Given the description of an element on the screen output the (x, y) to click on. 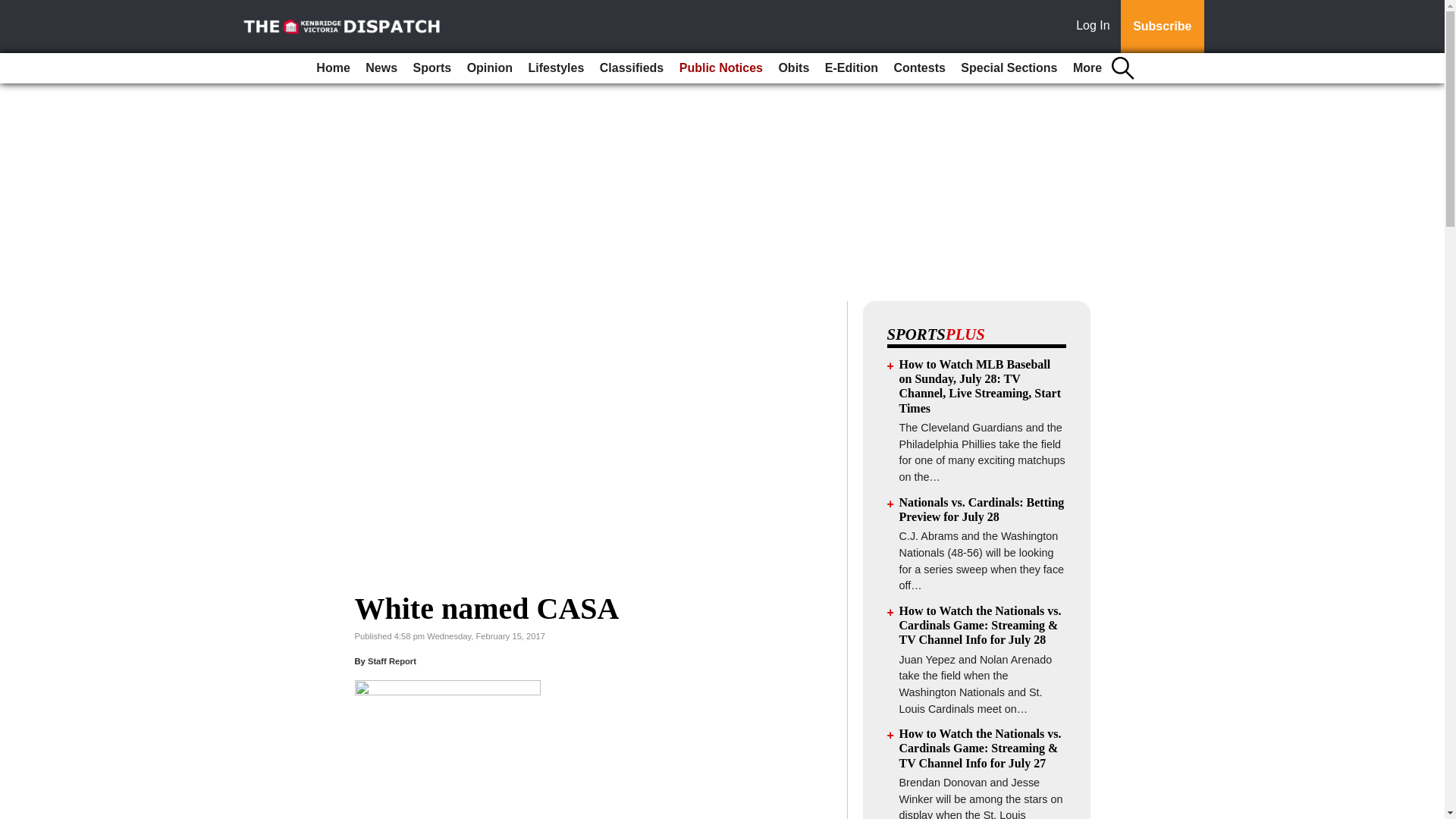
Sports (431, 68)
Obits (793, 68)
Nationals vs. Cardinals: Betting Preview for July 28 (981, 509)
Go (13, 9)
Subscribe (1162, 26)
Classifieds (631, 68)
Opinion (489, 68)
News (381, 68)
Lifestyles (556, 68)
Home (332, 68)
Staff Report (392, 660)
Public Notices (720, 68)
Special Sections (1008, 68)
Contests (918, 68)
